Given the description of an element on the screen output the (x, y) to click on. 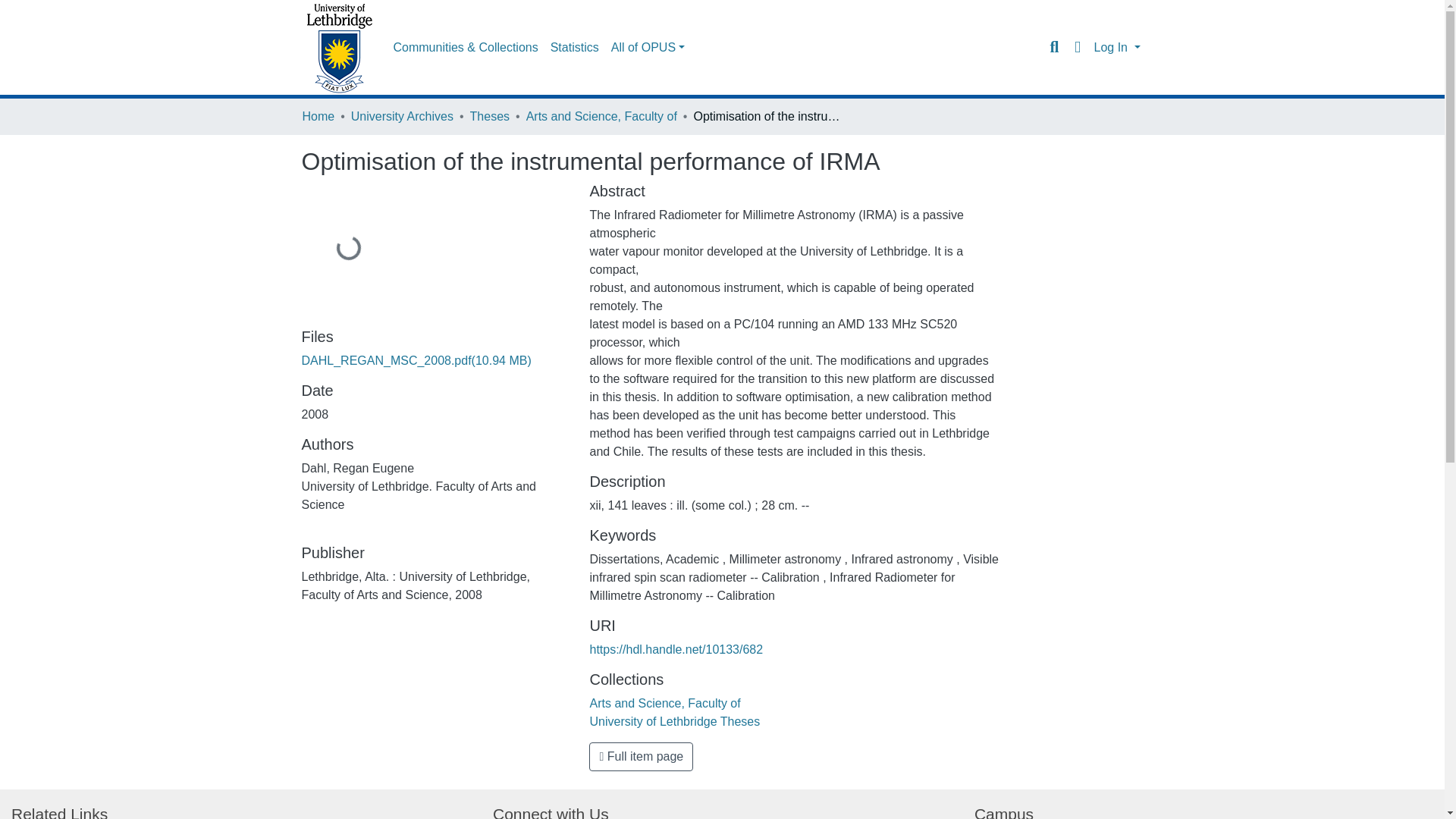
Log In (1116, 47)
University of Lethbridge Theses (674, 721)
Full item page (641, 756)
Search (1053, 47)
Statistics (574, 47)
Theses (489, 116)
University Archives (401, 116)
Language switch (1077, 47)
Statistics (574, 47)
Arts and Science, Faculty of (664, 703)
